Given the description of an element on the screen output the (x, y) to click on. 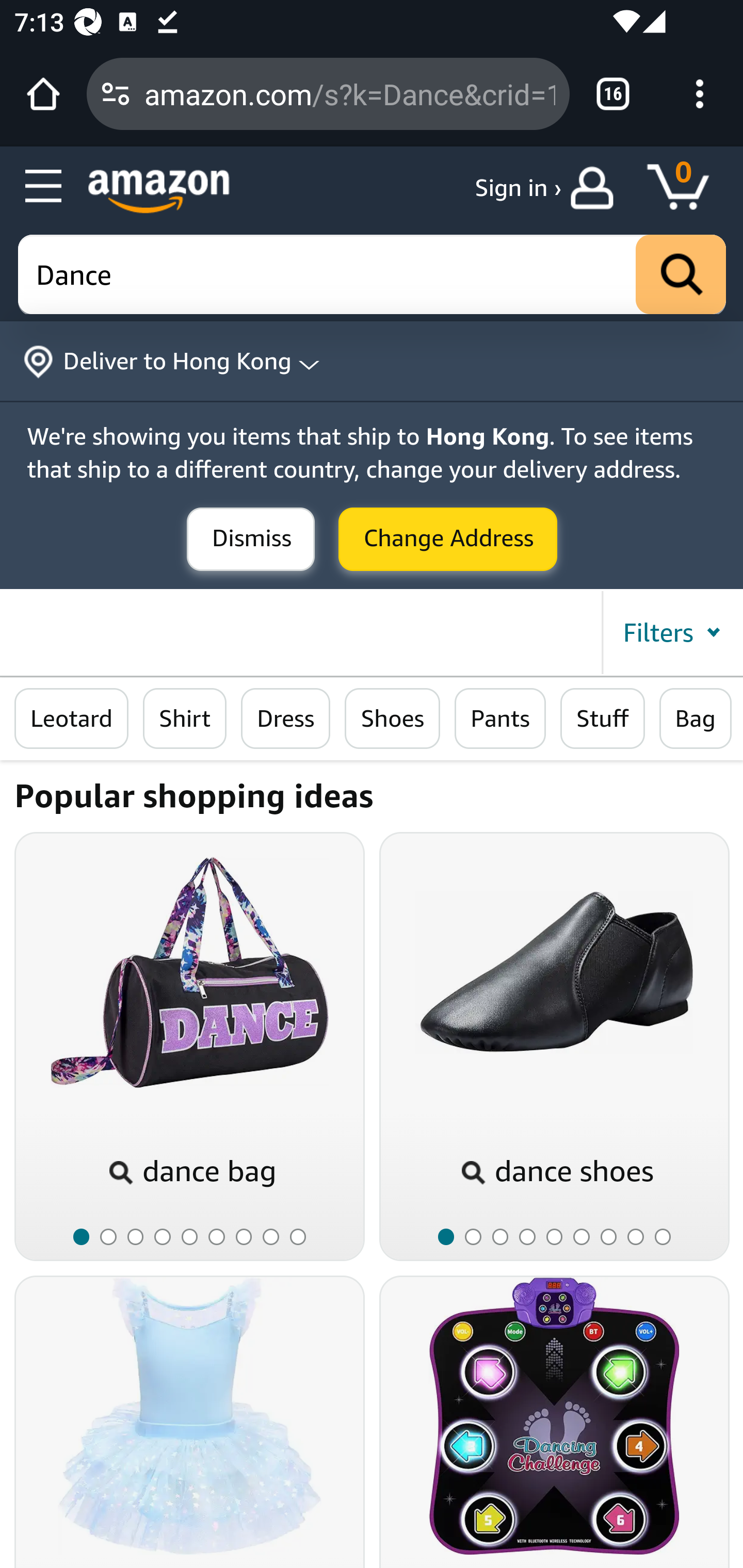
Open the home page (43, 93)
Connection is secure (115, 93)
Switch or close tabs (612, 93)
Customize and control Google Chrome (699, 93)
Open Menu (44, 187)
Sign in › (518, 188)
your account (596, 188)
Cart 0 (687, 188)
Amazon (158, 191)
Dance (372, 275)
Go (681, 275)
Submit (250, 539)
Submit (447, 539)
Filters (671, 632)
Leotard (72, 718)
Shirt (184, 718)
Dress (285, 718)
Shoes (392, 718)
Pants (499, 718)
Stuff (602, 718)
Bag (695, 718)
Dynadans Women's Leather Upper Slip-on Jazz Shoe (553, 971)
